Given the description of an element on the screen output the (x, y) to click on. 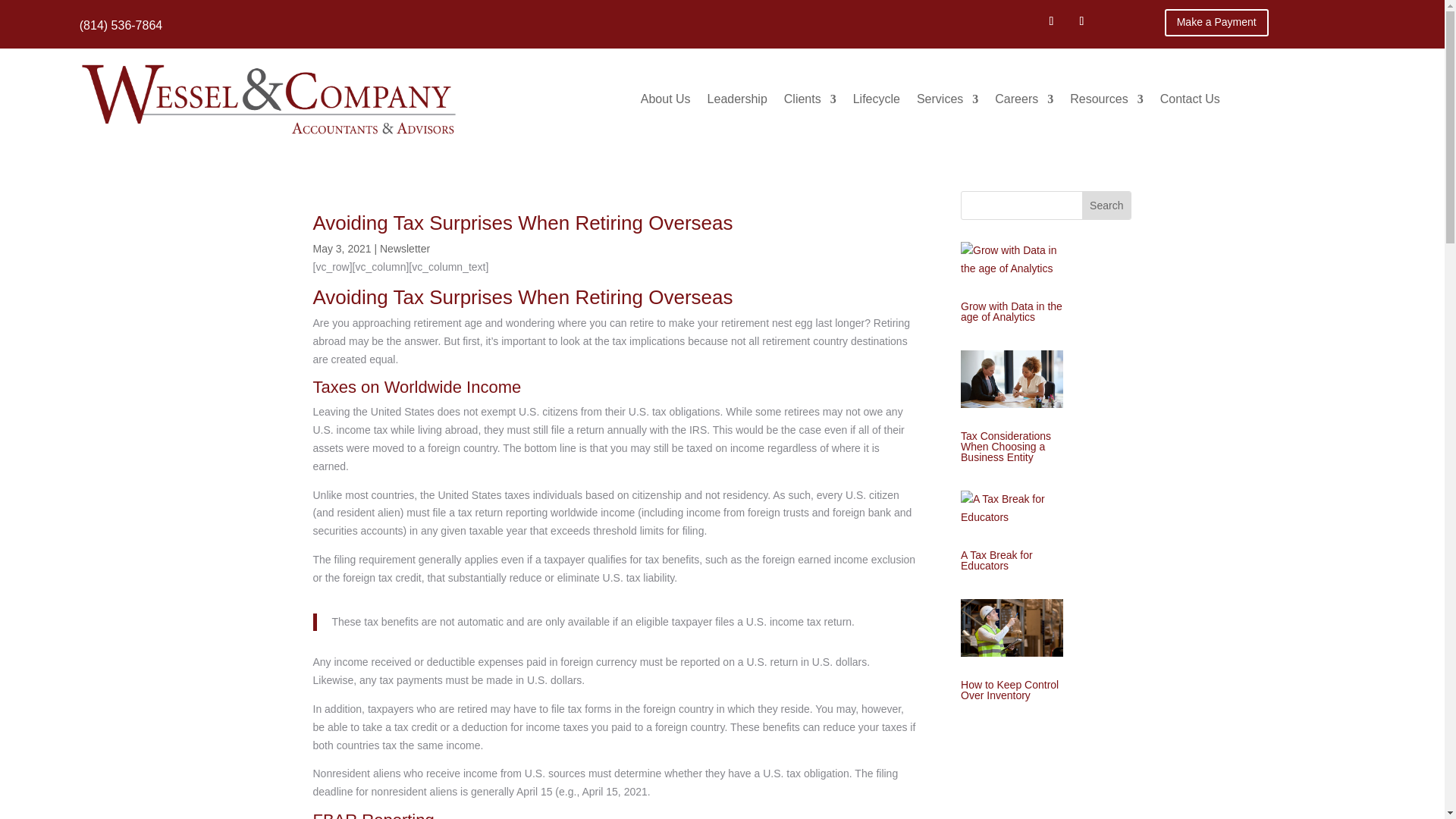
Search (1106, 205)
Search (1106, 205)
Make a Payment (1216, 22)
Follow on LinkedIn (1080, 21)
Follow on Facebook (1050, 21)
